Given the description of an element on the screen output the (x, y) to click on. 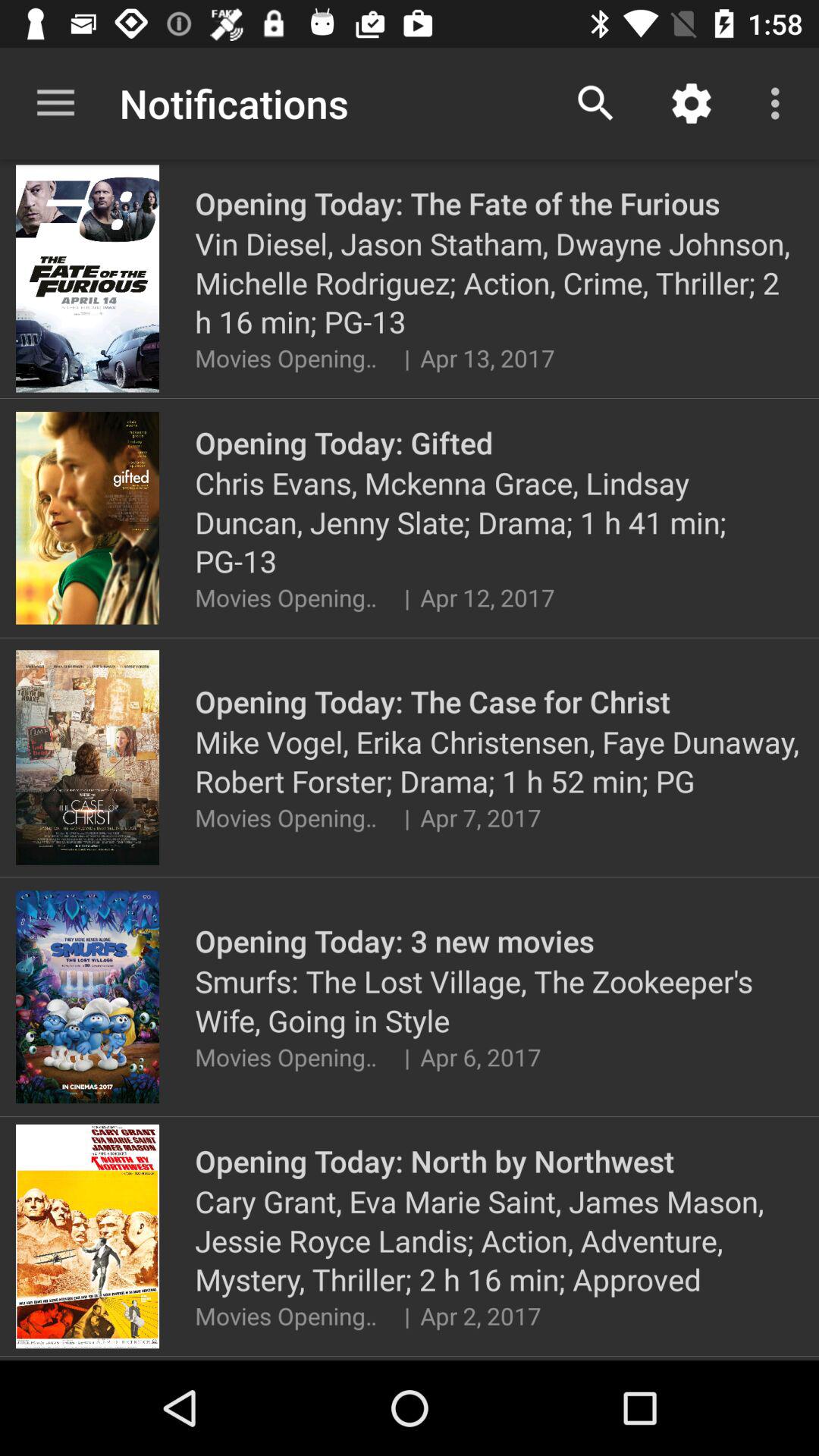
turn on the icon above the movies opening today icon (499, 1240)
